Given the description of an element on the screen output the (x, y) to click on. 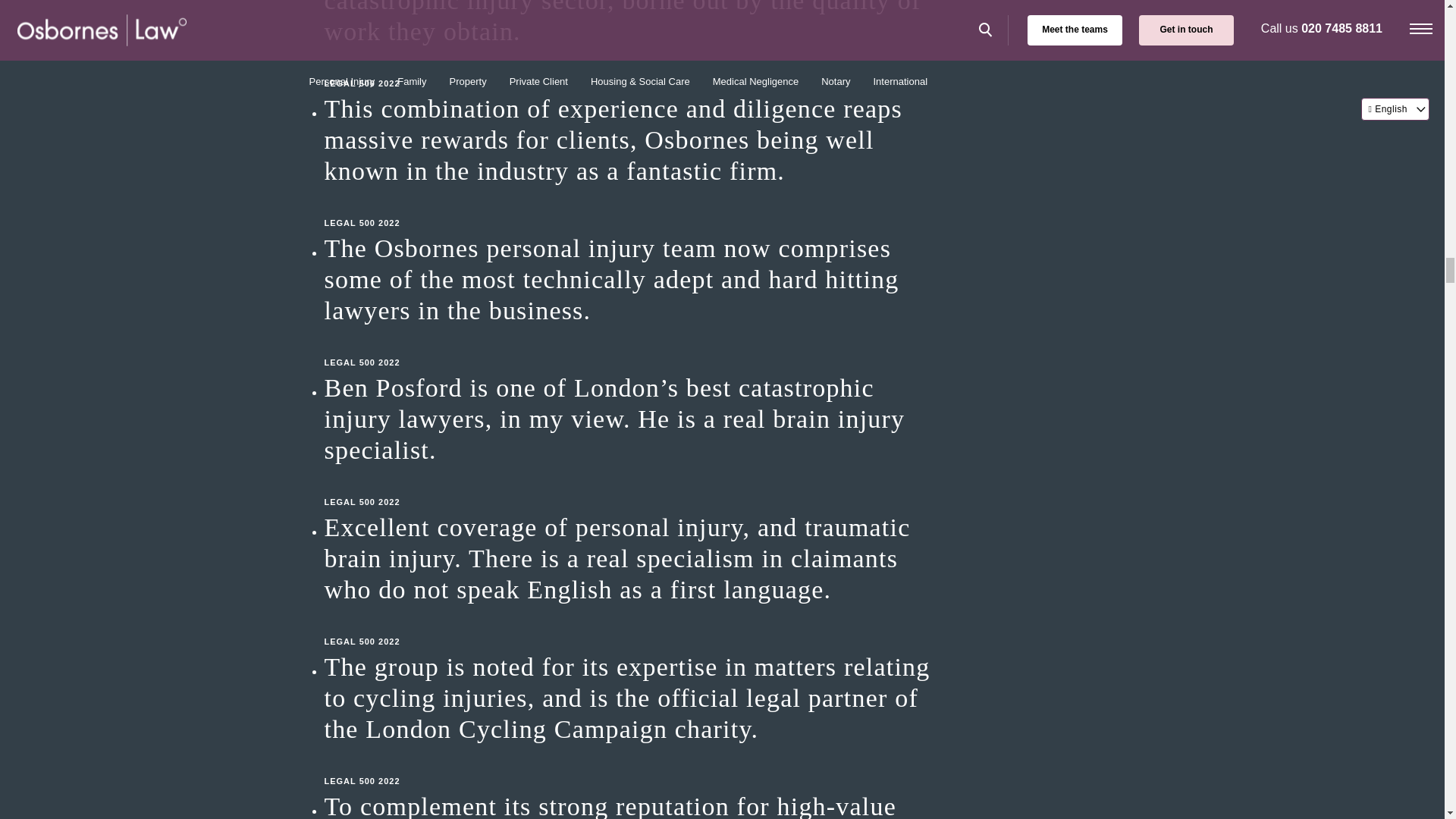
LEGAL 500 2022 (627, 346)
LEGAL 500 2022 (627, 626)
LEGAL 500 2022 (627, 486)
LEGAL 500 2022 (627, 765)
LEGAL 500 2022 (627, 207)
LEGAL 500 2022 (627, 67)
